Given the description of an element on the screen output the (x, y) to click on. 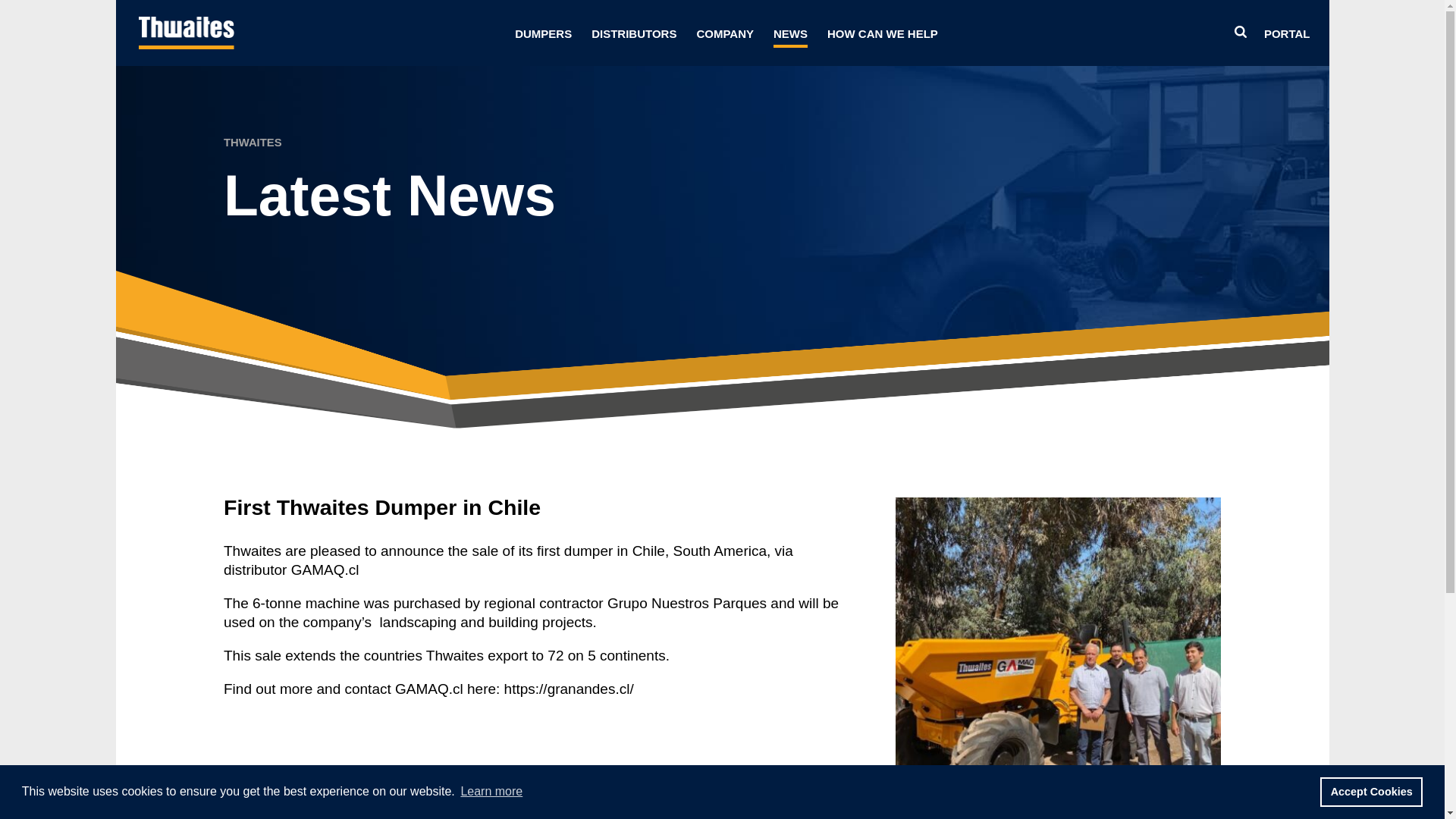
Accept Cookies (1371, 791)
COMPANY (724, 37)
DISTRIBUTORS (634, 37)
DUMPERS (543, 37)
NEWS (790, 37)
Learn more (491, 791)
